Given the description of an element on the screen output the (x, y) to click on. 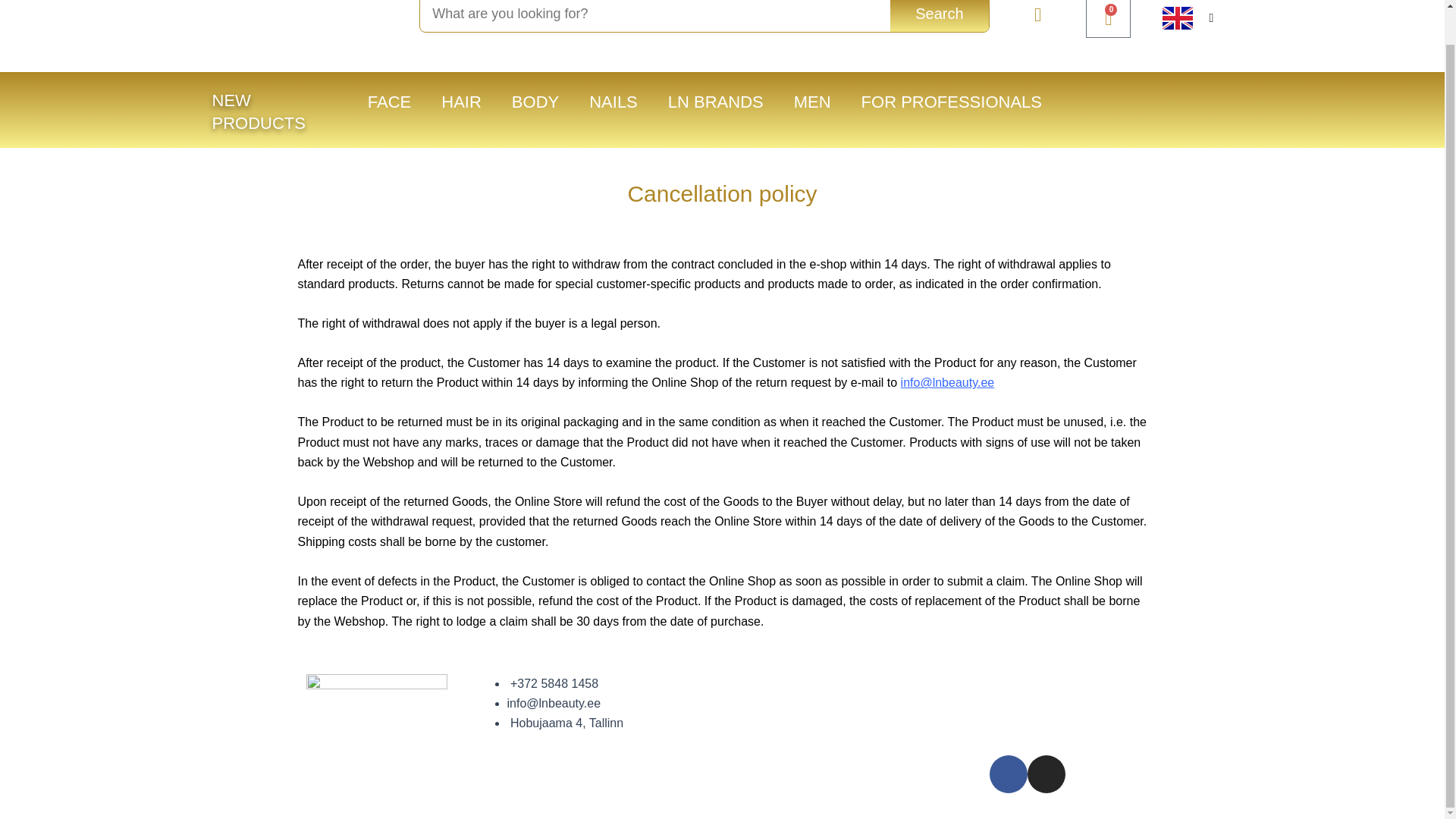
NAILS (612, 101)
FOR PROFESSIONALS (951, 101)
Search (938, 15)
BODY (1108, 18)
MEN (534, 101)
FACE (811, 101)
NEW PRODUCTS (389, 101)
LN BRANDS (258, 111)
HAIR (715, 101)
